Given the description of an element on the screen output the (x, y) to click on. 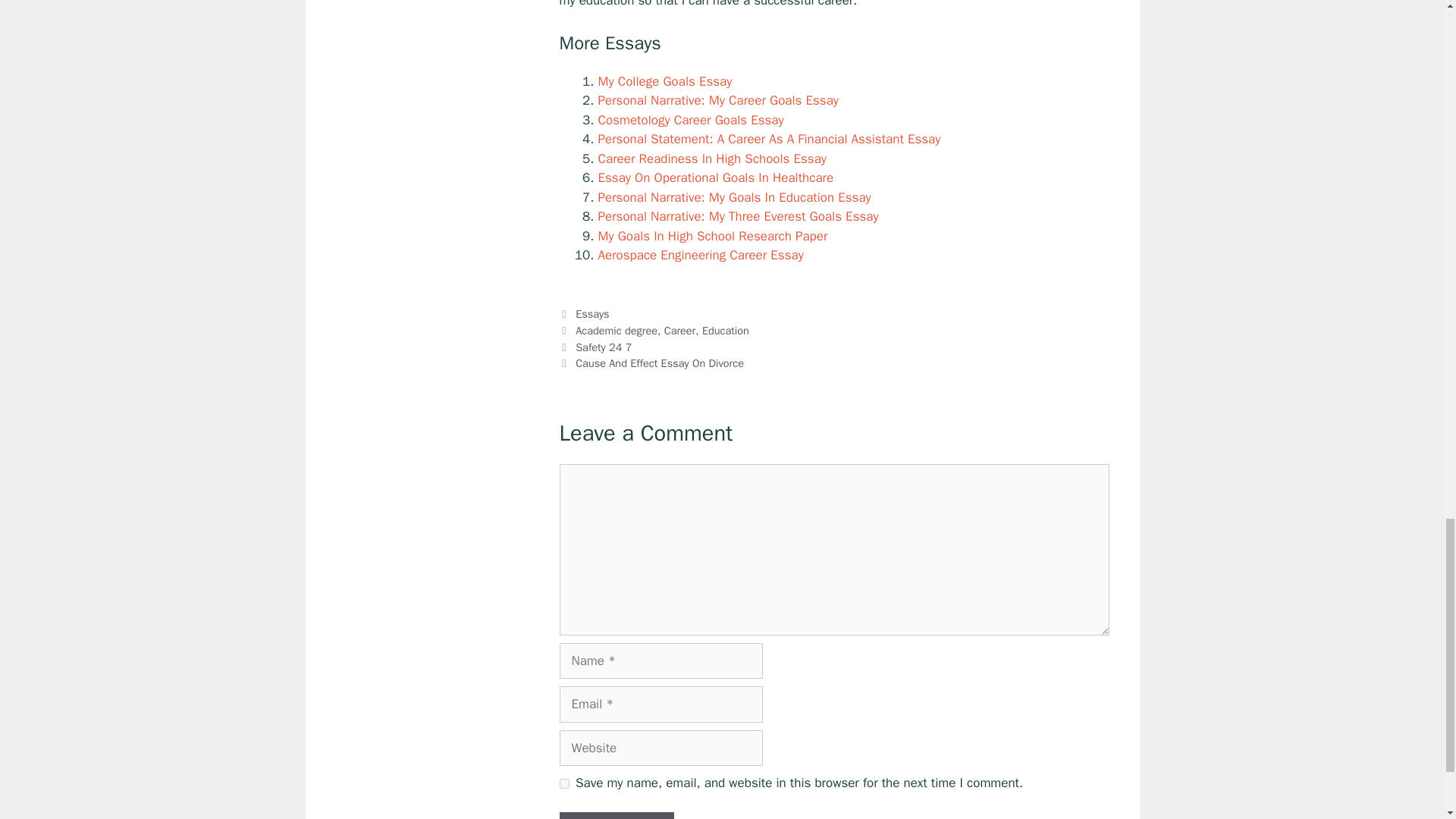
Personal Narrative: My Career Goals Essay (717, 100)
Personal Narrative: My Three Everest Goals Essay (736, 216)
Academic degree (616, 330)
Career Readiness In High Schools Essay (711, 158)
Essay On Operational Goals In Healthcare (714, 177)
Cosmetology Career Goals Essay (689, 119)
My Goals In High School Research Paper (711, 236)
Essay On Operational Goals In Healthcare (714, 177)
Personal Statement: A Career As A Financial Assistant Essay (768, 139)
Cosmetology Career Goals Essay (689, 119)
Essays (591, 314)
Personal Narrative: My Goals In Education Essay (733, 197)
Personal Narrative: My Career Goals Essay (717, 100)
My Goals In High School Research Paper (711, 236)
My College Goals Essay (664, 81)
